Given the description of an element on the screen output the (x, y) to click on. 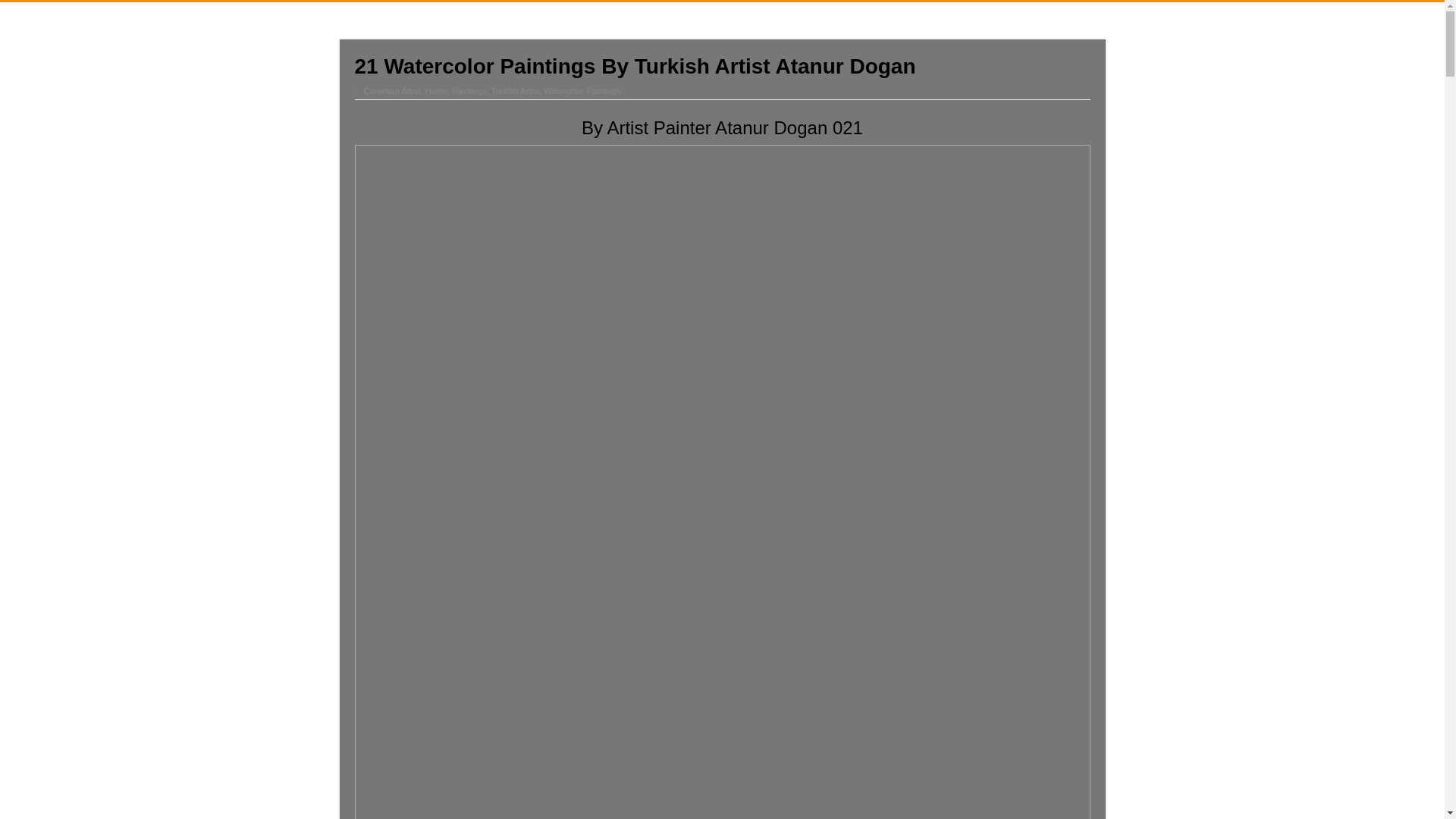
Turkish Artist (515, 90)
Paintings (468, 90)
Watercolor Paintings (582, 90)
Canadian Artist (392, 90)
Home (435, 90)
